Given the description of an element on the screen output the (x, y) to click on. 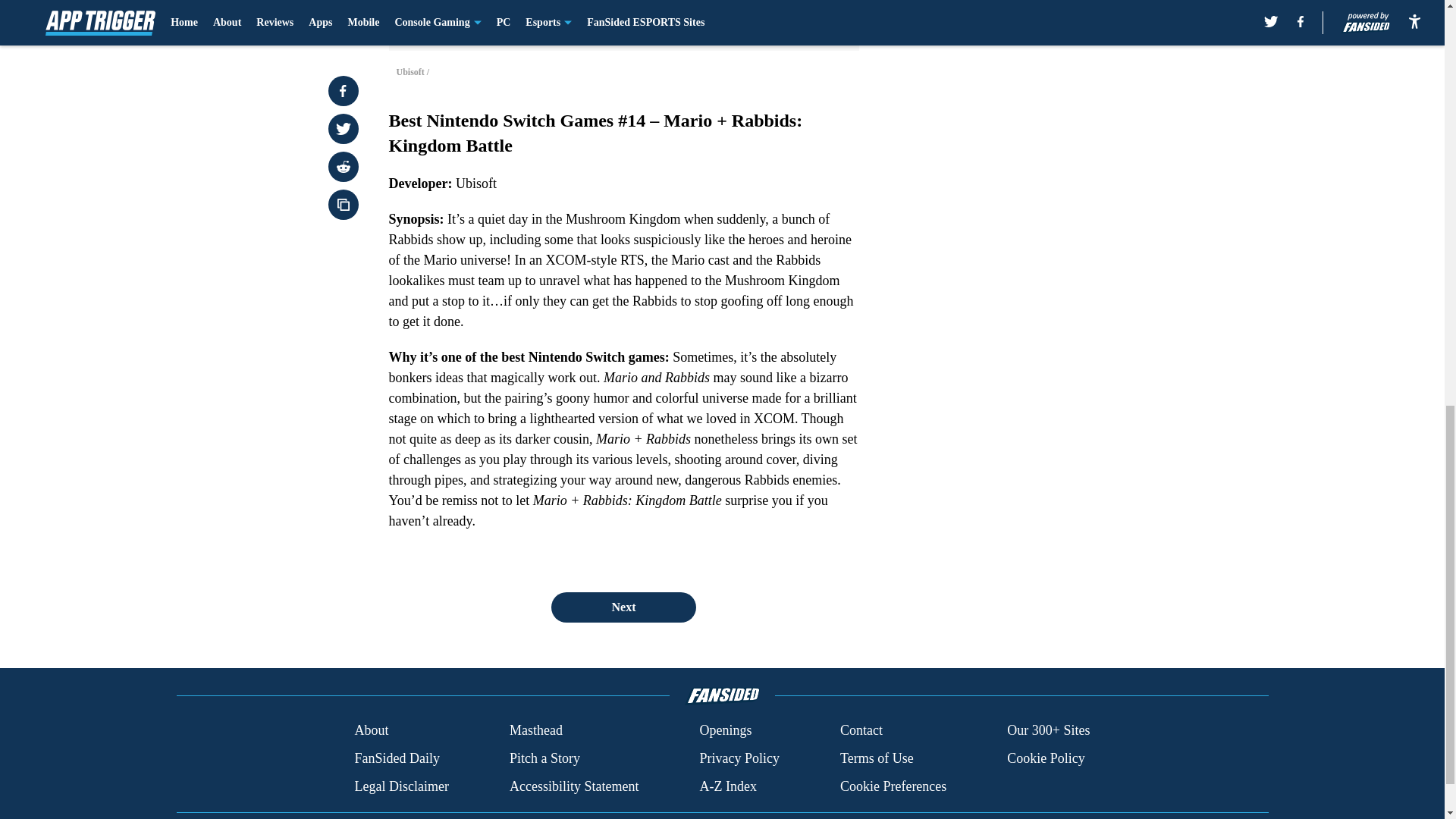
Openings (724, 730)
Next (622, 607)
Privacy Policy (738, 758)
About (370, 730)
Pitch a Story (544, 758)
Contact (861, 730)
Masthead (535, 730)
FanSided Daily (396, 758)
